Given the description of an element on the screen output the (x, y) to click on. 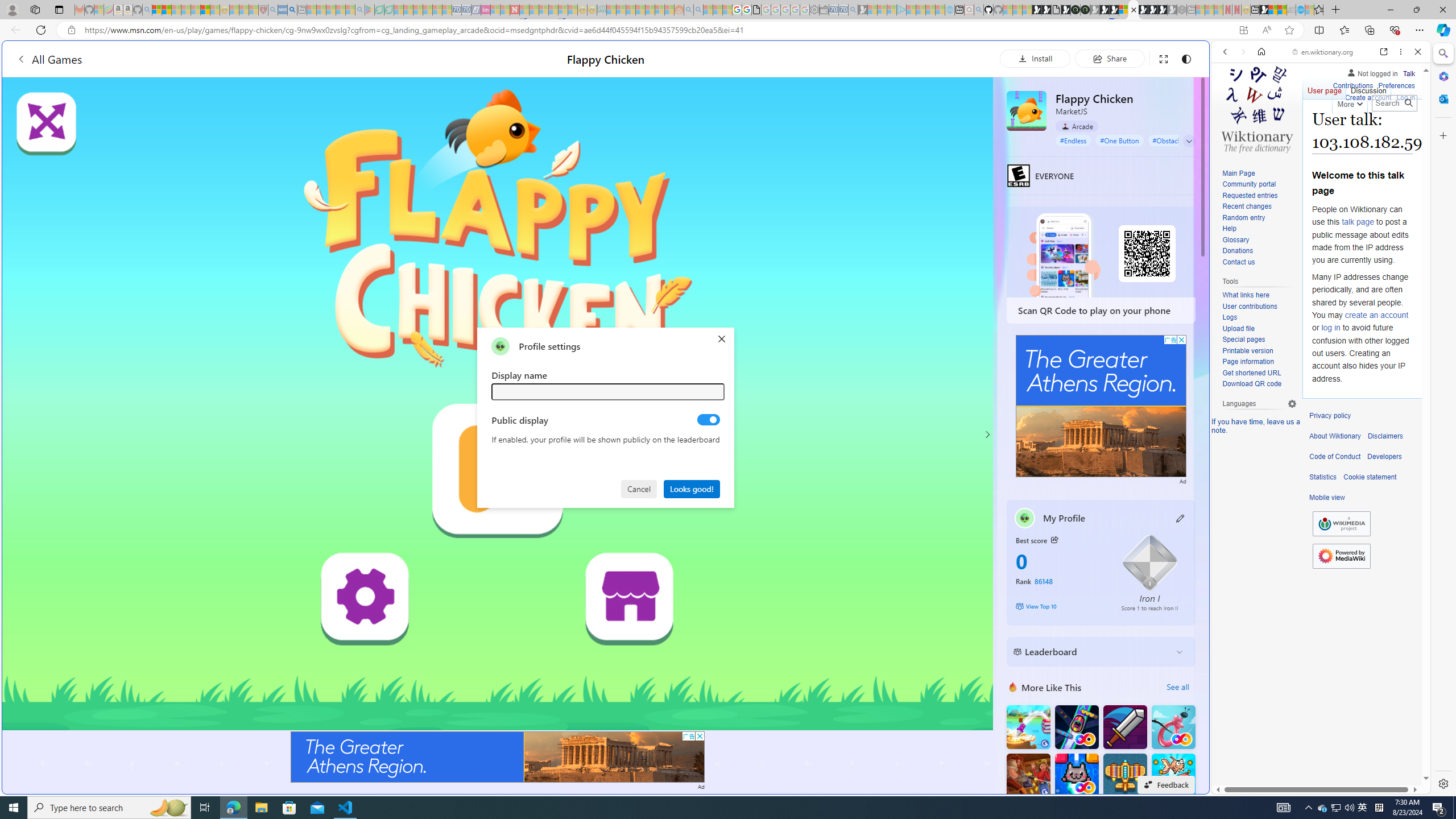
More Like This (1012, 686)
github - Search - Sleeping (978, 9)
Help (1259, 229)
Frequently visited (965, 151)
Code of Conduct (1334, 456)
Class: button edit-icon (1180, 517)
google_privacy_policy_zh-CN.pdf (1118, 683)
#Obstacle Course (1178, 140)
Privacy policy (1329, 415)
Download QR code (1251, 384)
Pets - MSN - Sleeping (340, 9)
Discussion (1367, 87)
